Given the description of an element on the screen output the (x, y) to click on. 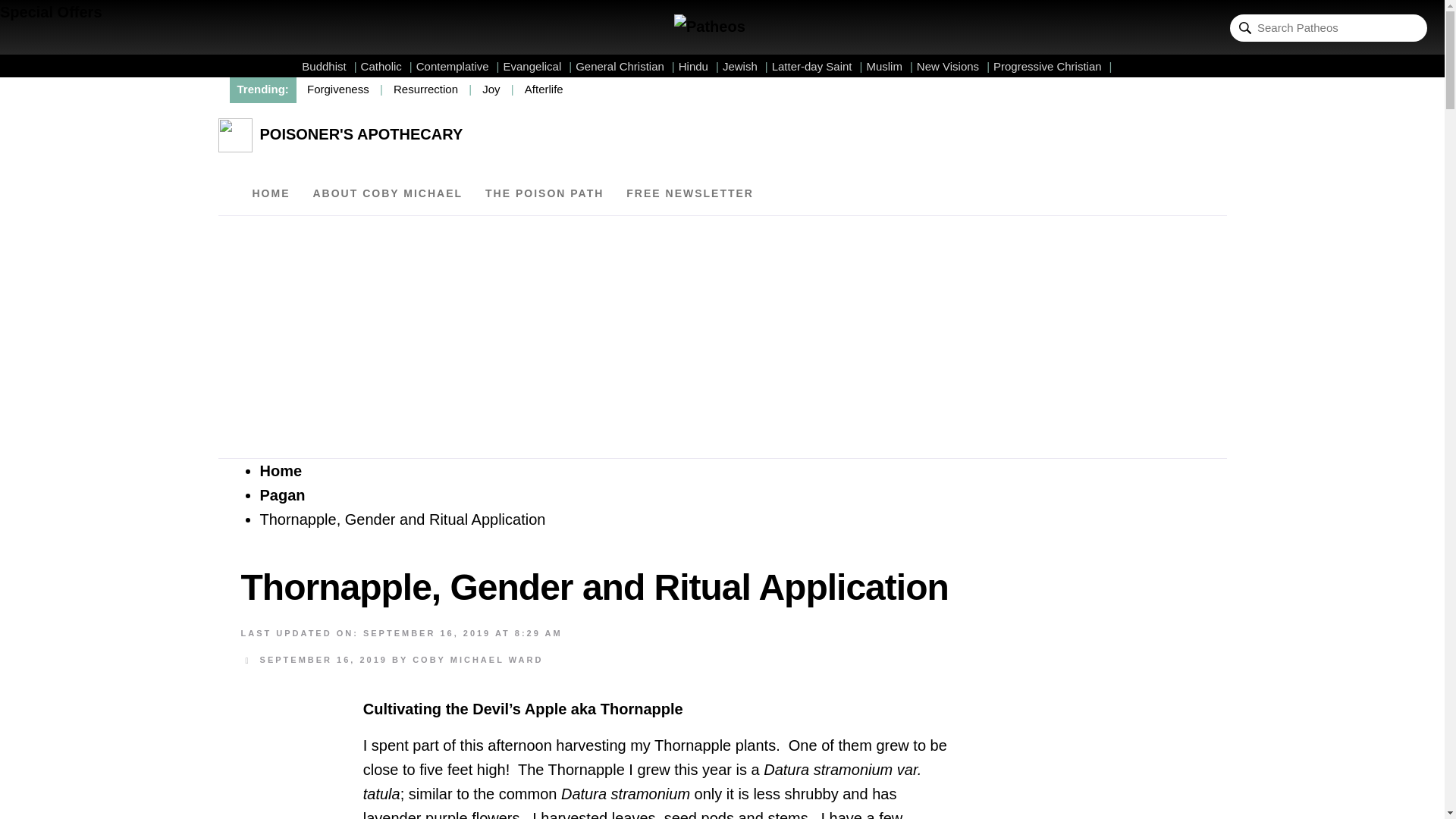
Contemplative (457, 65)
Progressive Christian (1052, 65)
New Visions (953, 65)
Latter-day Saint (817, 65)
Buddhist (328, 65)
Hindu (698, 65)
Muslim (889, 65)
Evangelical (537, 65)
General Christian (625, 65)
Catholic (386, 65)
